Given the description of an element on the screen output the (x, y) to click on. 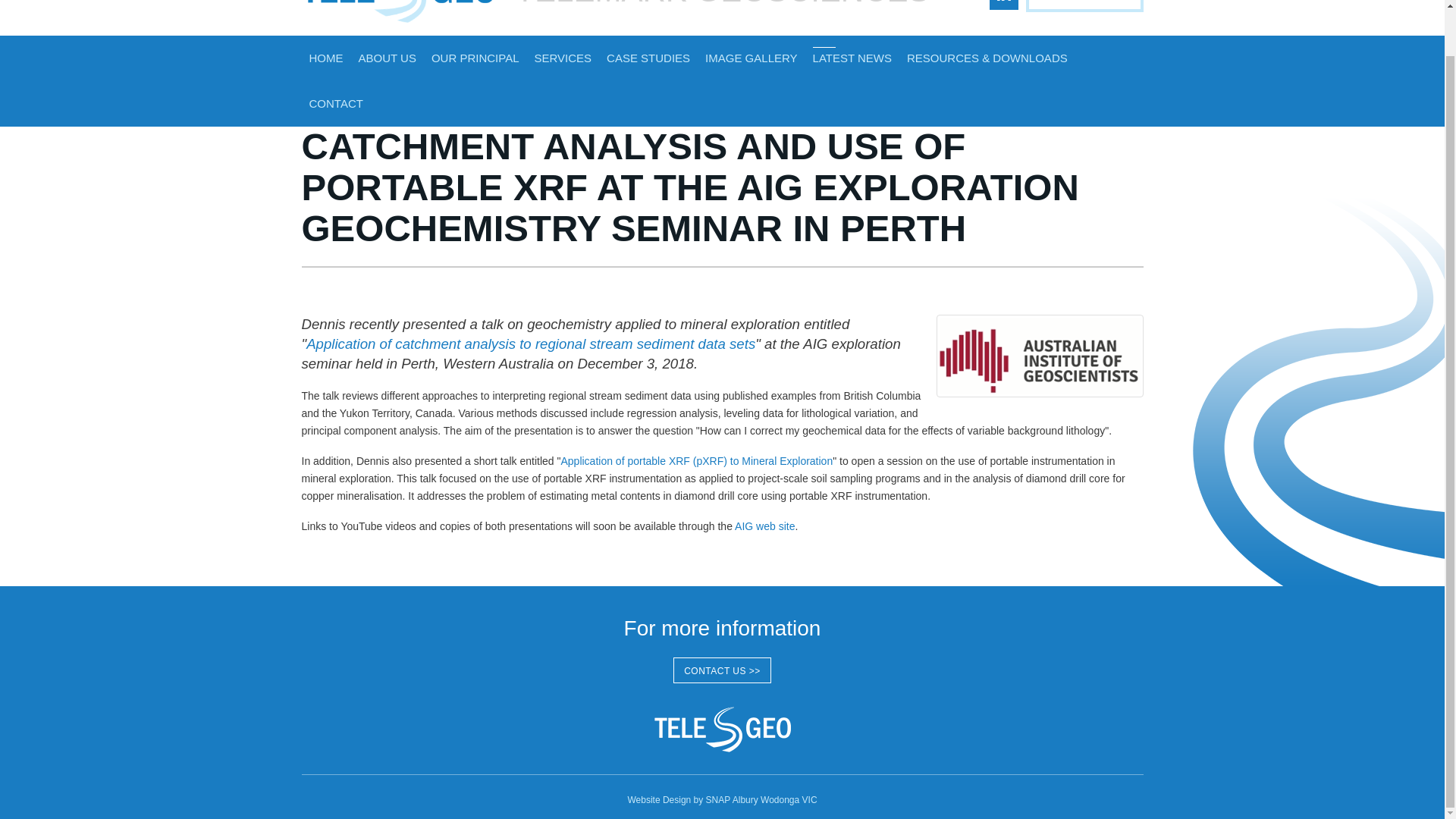
HOME (325, 58)
Website Design by SNAP Albury Wodonga VIC (721, 799)
IMAGE GALLERY (751, 58)
CONTACT (336, 103)
SERVICES (561, 58)
CASE STUDIES (647, 58)
ABOUT US (386, 58)
GET IN TOUCH (1084, 6)
OUR PRINCIPAL (475, 58)
